Given the description of an element on the screen output the (x, y) to click on. 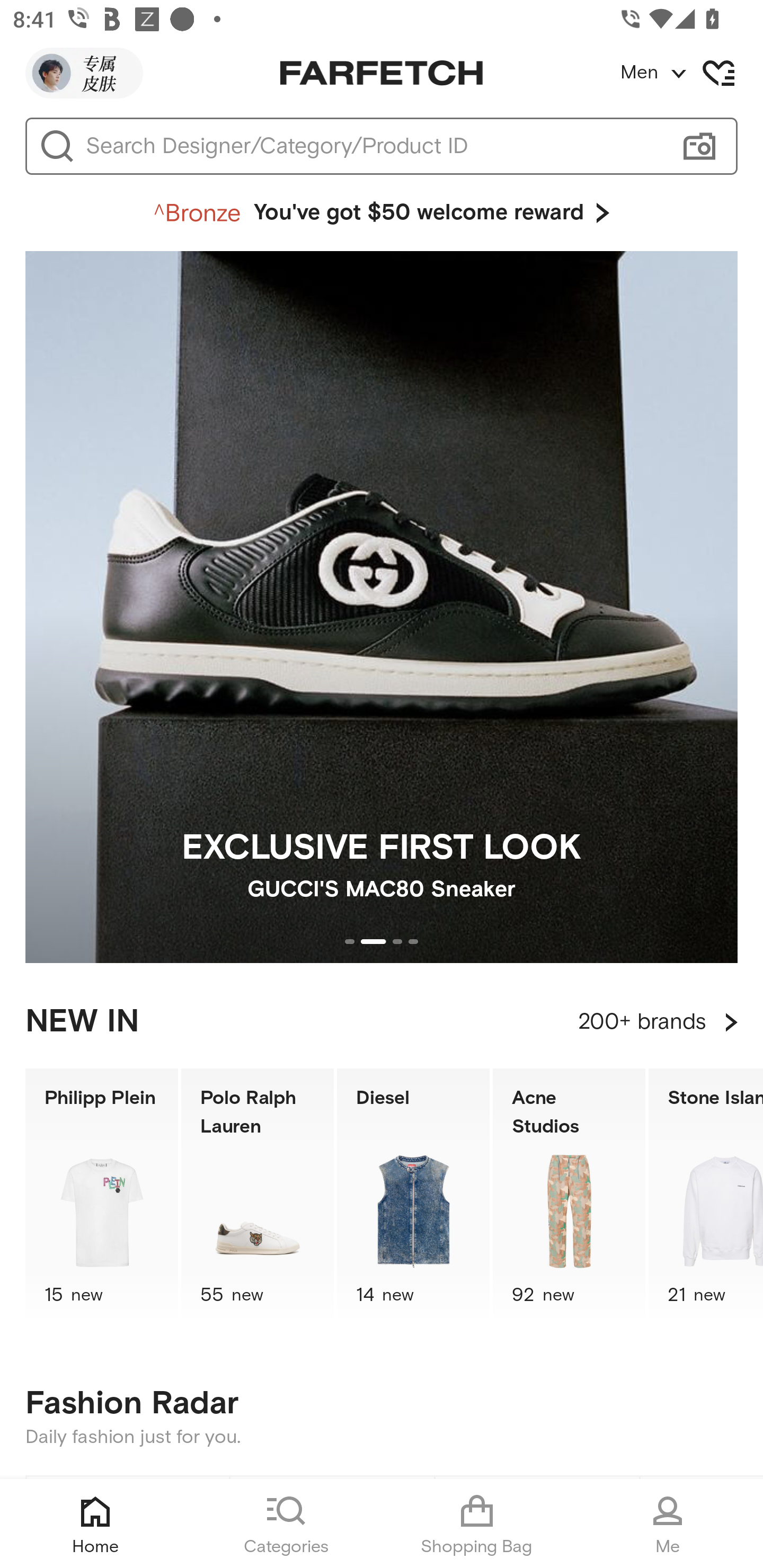
Men (691, 72)
Search Designer/Category/Product ID (373, 146)
You've got $50 welcome reward (381, 213)
NEW IN 200+ brands (381, 1021)
Philipp Plein 15  new (101, 1196)
Polo Ralph Lauren 55  new (257, 1196)
Diesel 14  new (413, 1196)
Acne Studios 92  new (568, 1196)
Stone Island 21  new (705, 1196)
Categories (285, 1523)
Shopping Bag (476, 1523)
Me (667, 1523)
